Given the description of an element on the screen output the (x, y) to click on. 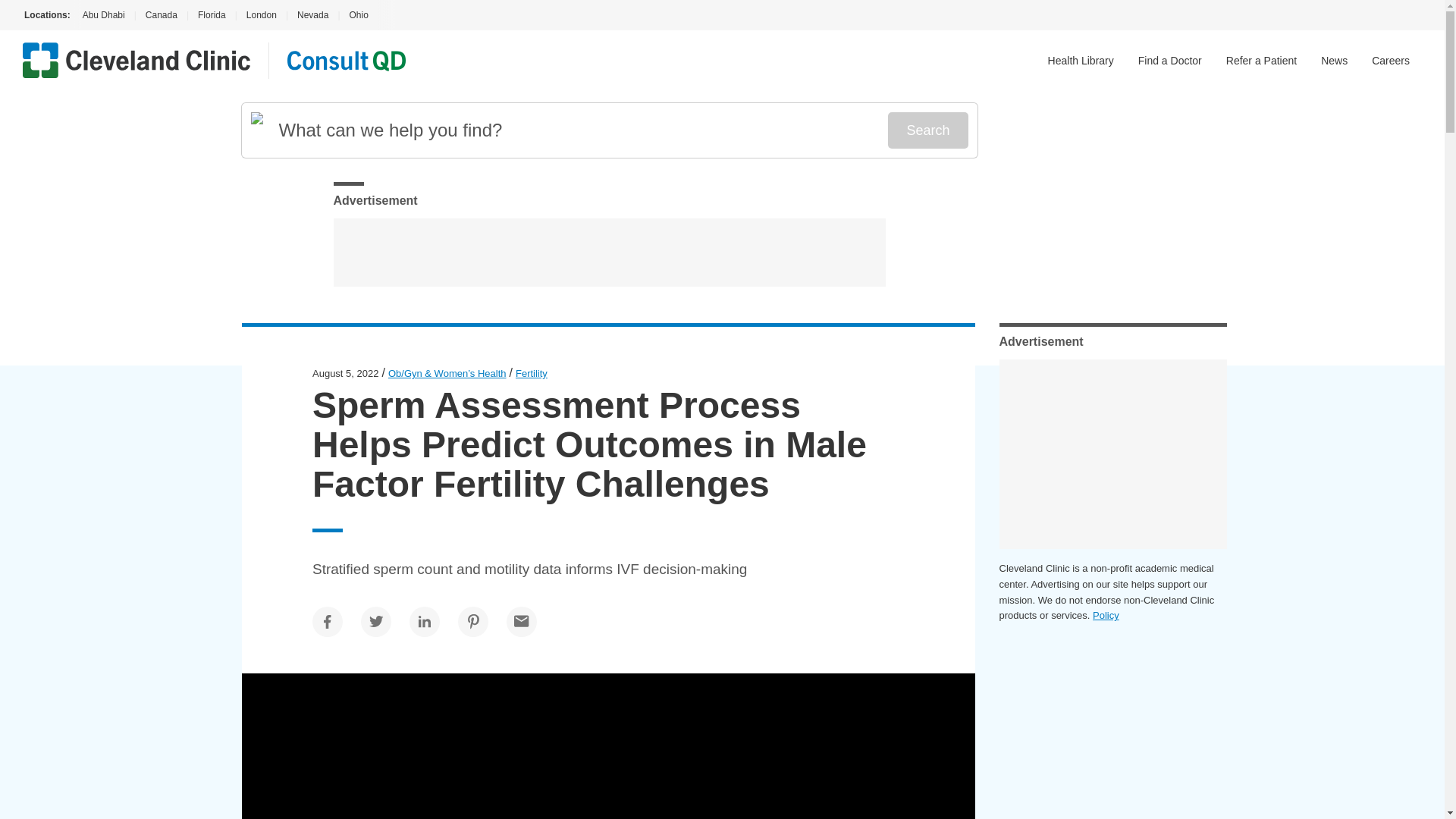
Find a Doctor (1170, 60)
London (261, 15)
Abu Dhabi (101, 15)
Florida (211, 15)
Careers (1390, 60)
Canada (161, 15)
Nevada (312, 15)
Refer a Patient (1261, 60)
Fertility (531, 373)
Ohio (358, 15)
